Given the description of an element on the screen output the (x, y) to click on. 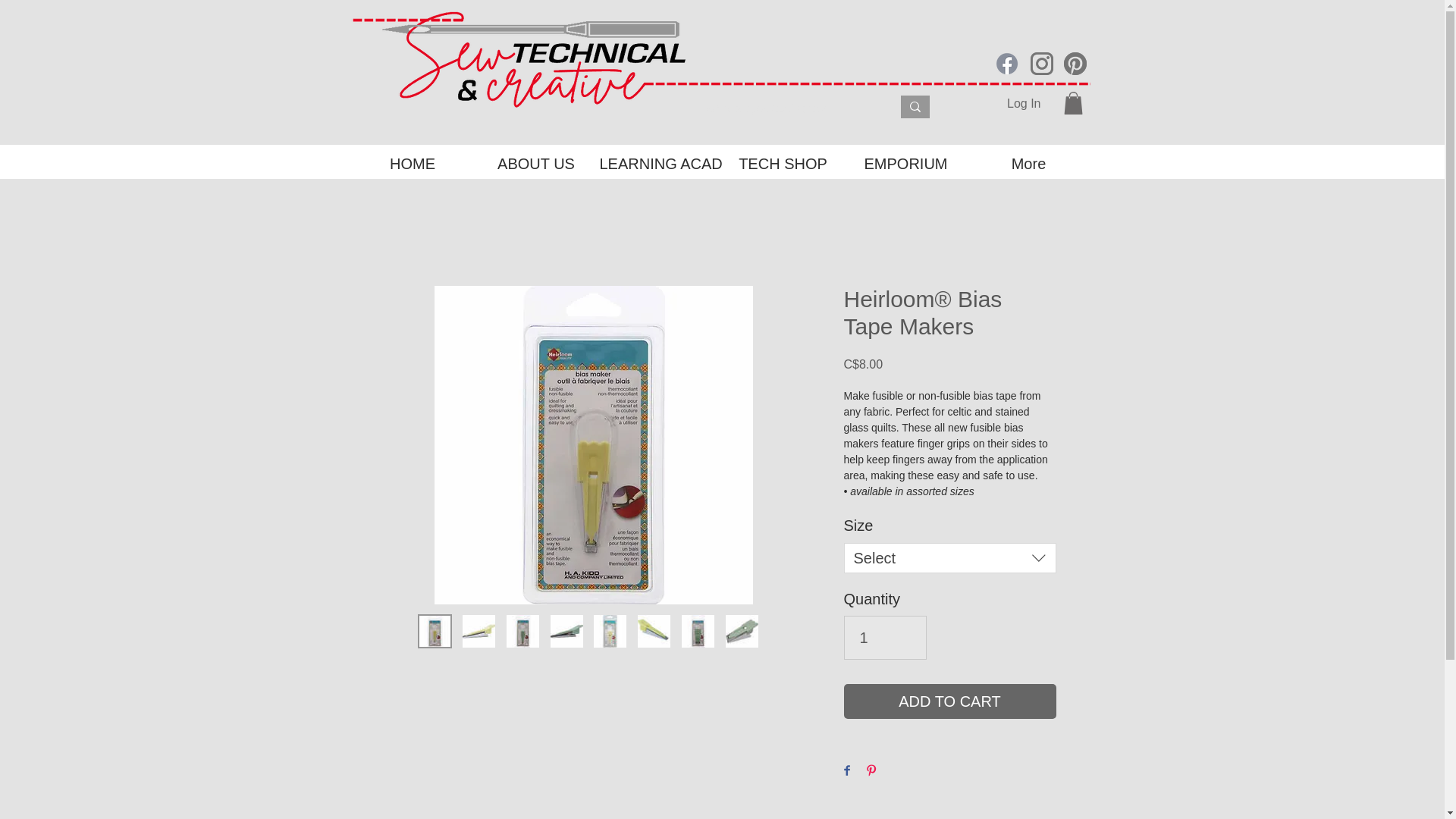
EMPORIUM (905, 163)
HOME (411, 163)
follow SewTechCreate on Facebook (1005, 63)
TECH SHOP (783, 163)
Log In (1023, 103)
See SewTechCreate's saved pins on Pintrest (1074, 63)
follow SewTechCreate on Instagram (1040, 63)
ABOUT US (536, 163)
1 (884, 637)
LEARNING ACADEMY (658, 163)
